Given the description of an element on the screen output the (x, y) to click on. 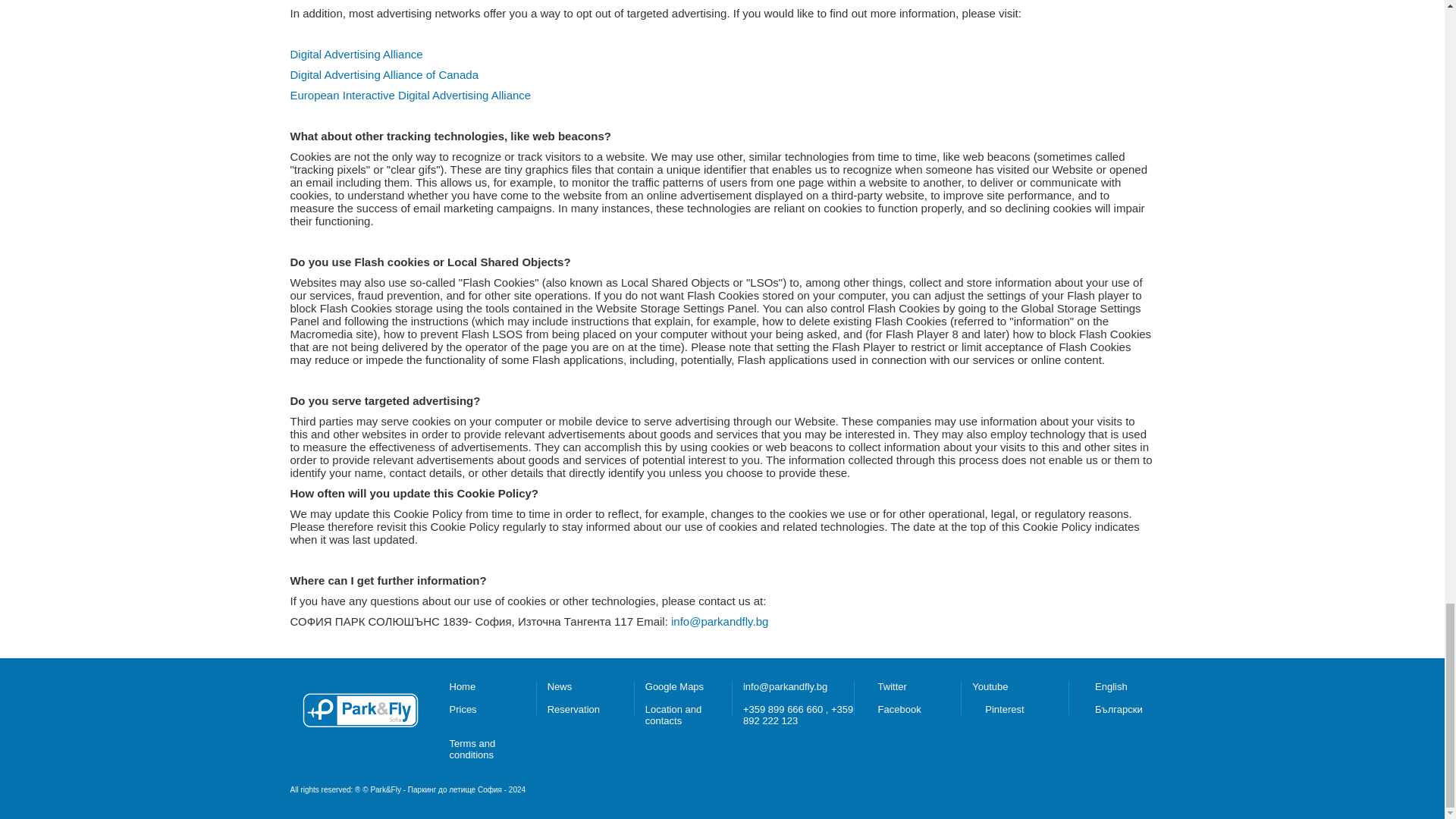
Location and contacts (673, 714)
Terms and conditions (471, 748)
Digital Advertising Alliance (355, 53)
Google Maps (674, 686)
Prices (462, 708)
Facebook (899, 708)
Digital Advertising Alliance of Canada (383, 74)
Twitter (892, 686)
Reservation (573, 708)
News (559, 686)
Youtube (989, 686)
European Interactive Digital Advertising Alliance (410, 94)
Home (462, 686)
